Given the description of an element on the screen output the (x, y) to click on. 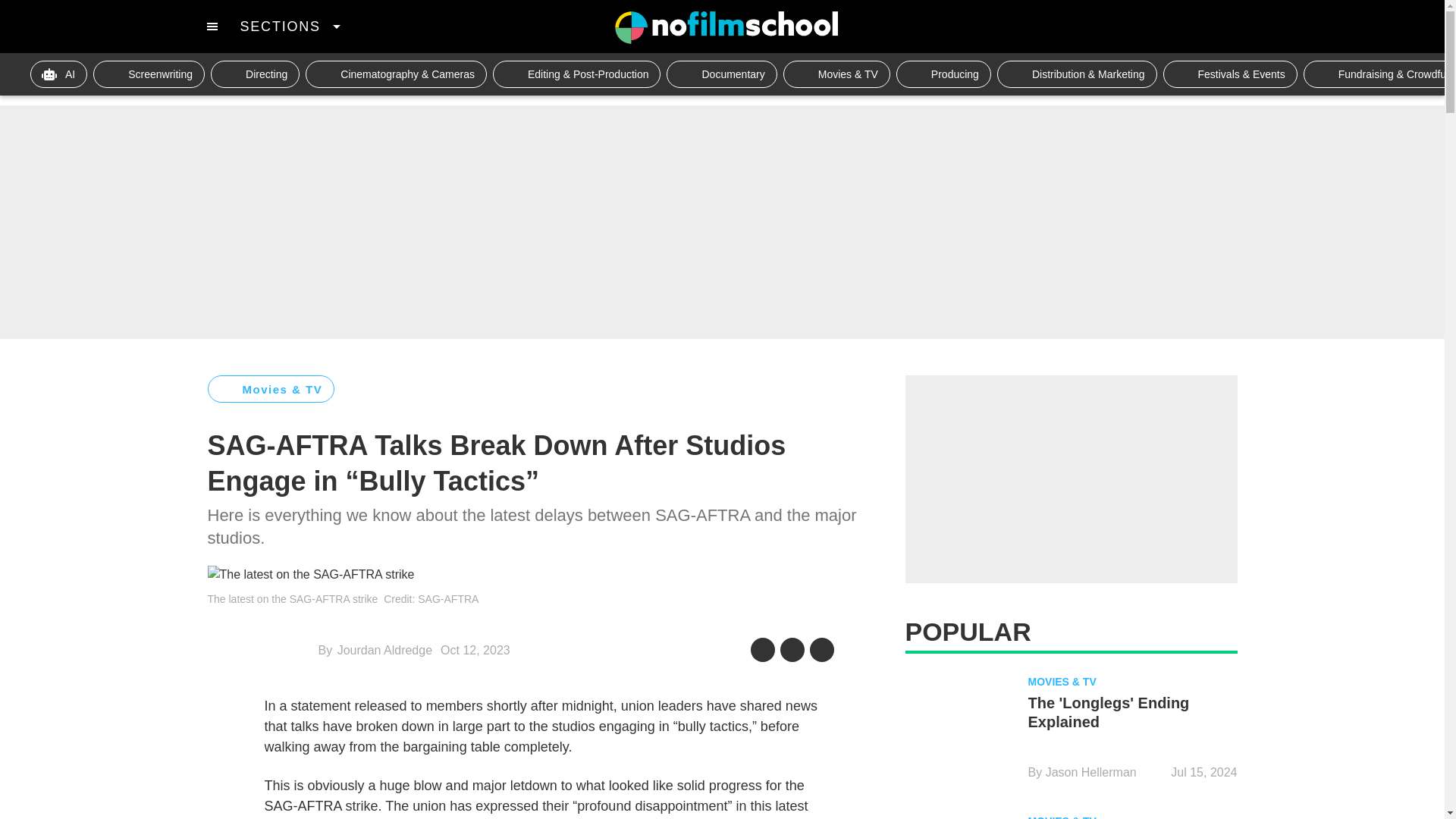
Directing (255, 73)
Producing (943, 73)
Screenwriting (149, 73)
AI (58, 73)
NO FILM SCHOOL (725, 27)
SECTIONS (289, 26)
Documentary (721, 73)
NO FILM SCHOOL (725, 27)
